Given the description of an element on the screen output the (x, y) to click on. 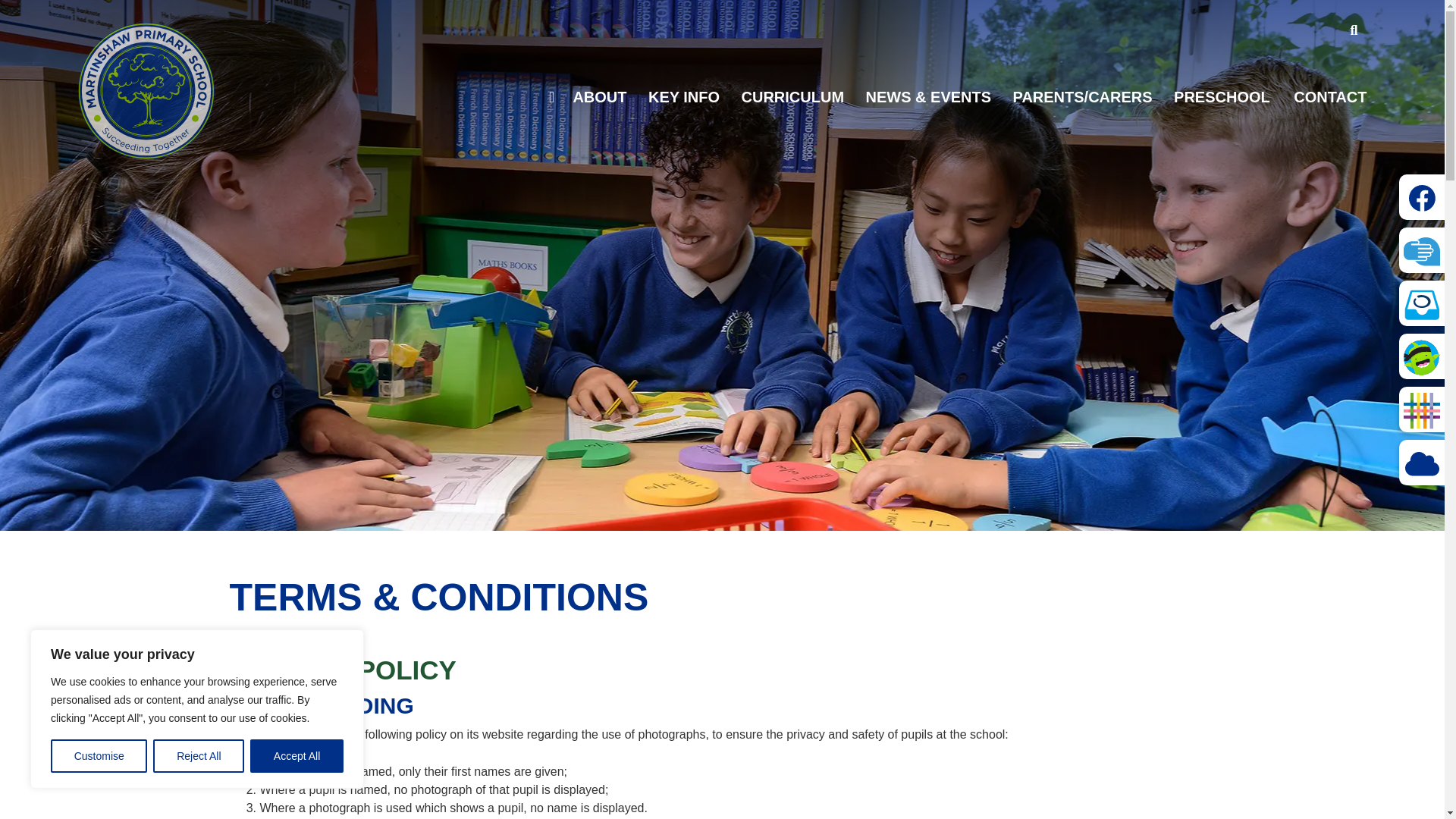
Accept All (296, 756)
Reject All (198, 756)
ABOUT (599, 96)
Search this website (1353, 30)
Search Website (1353, 30)
Customise (98, 756)
KEY INFO (683, 96)
